Given the description of an element on the screen output the (x, y) to click on. 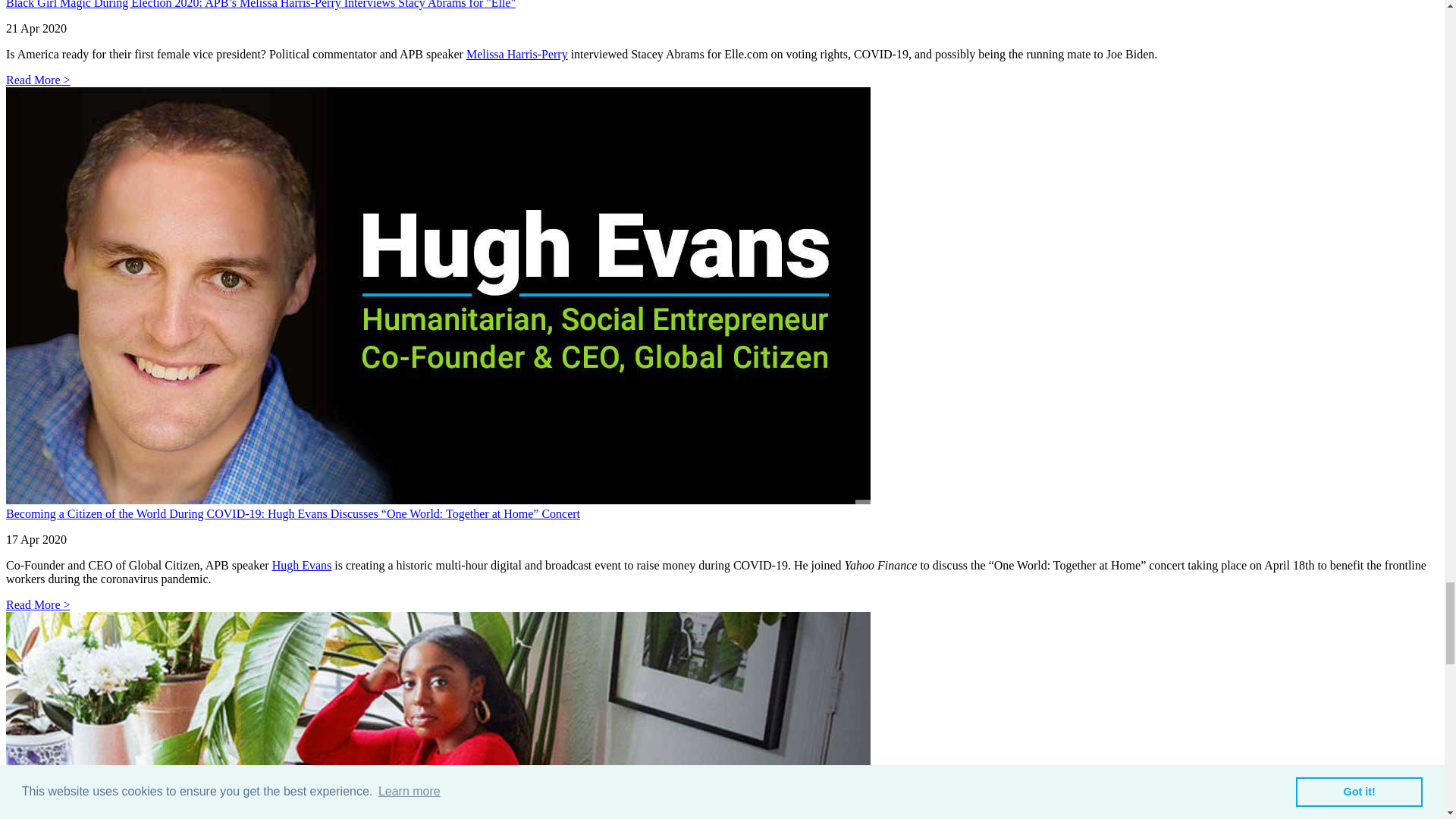
Melissa Harris-Perry (516, 53)
Hugh Evans (301, 564)
